Given the description of an element on the screen output the (x, y) to click on. 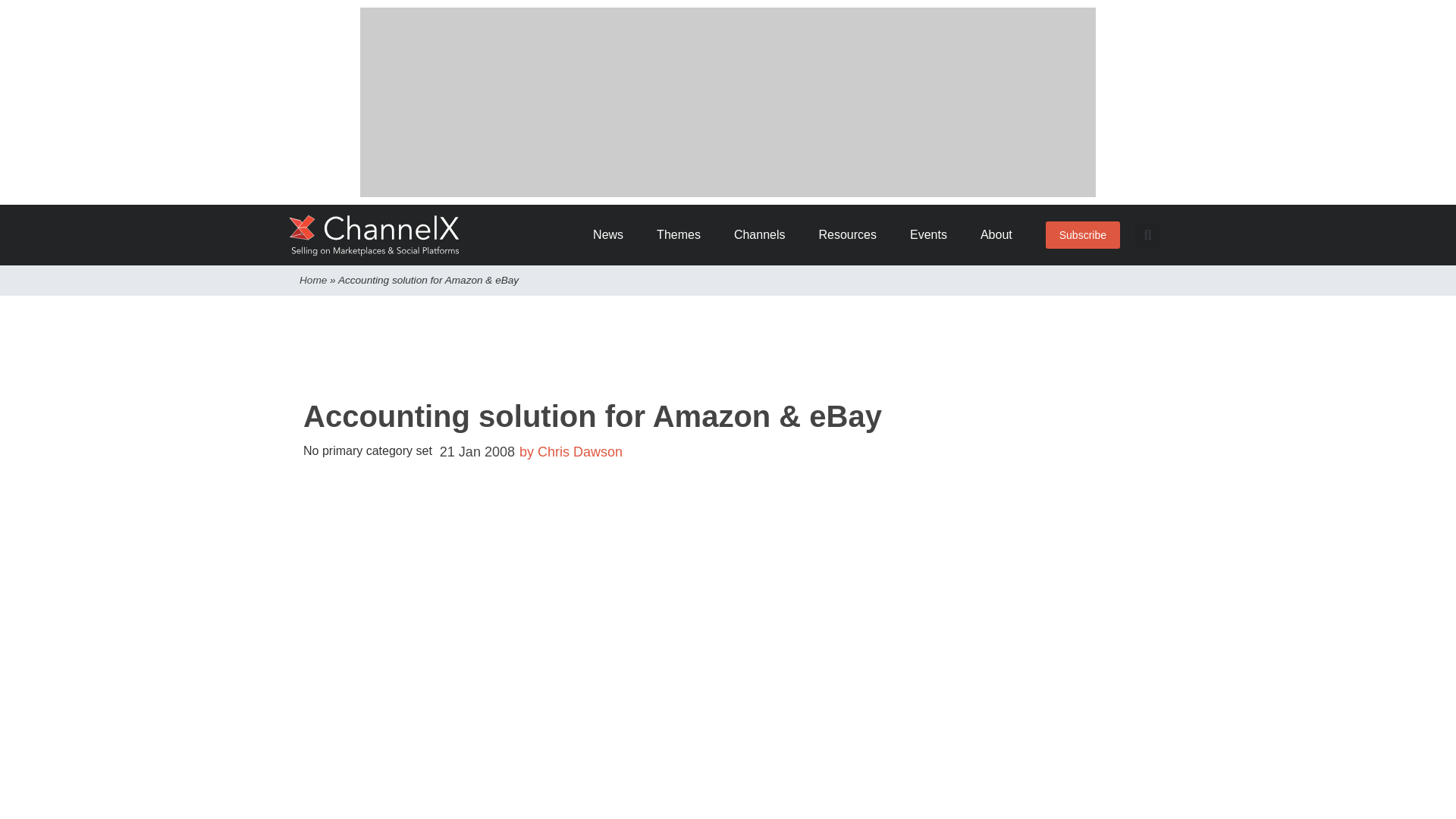
News (613, 234)
ChannelX Home Page (375, 234)
Channels (764, 234)
Resources (852, 234)
Themes (684, 234)
